Given the description of an element on the screen output the (x, y) to click on. 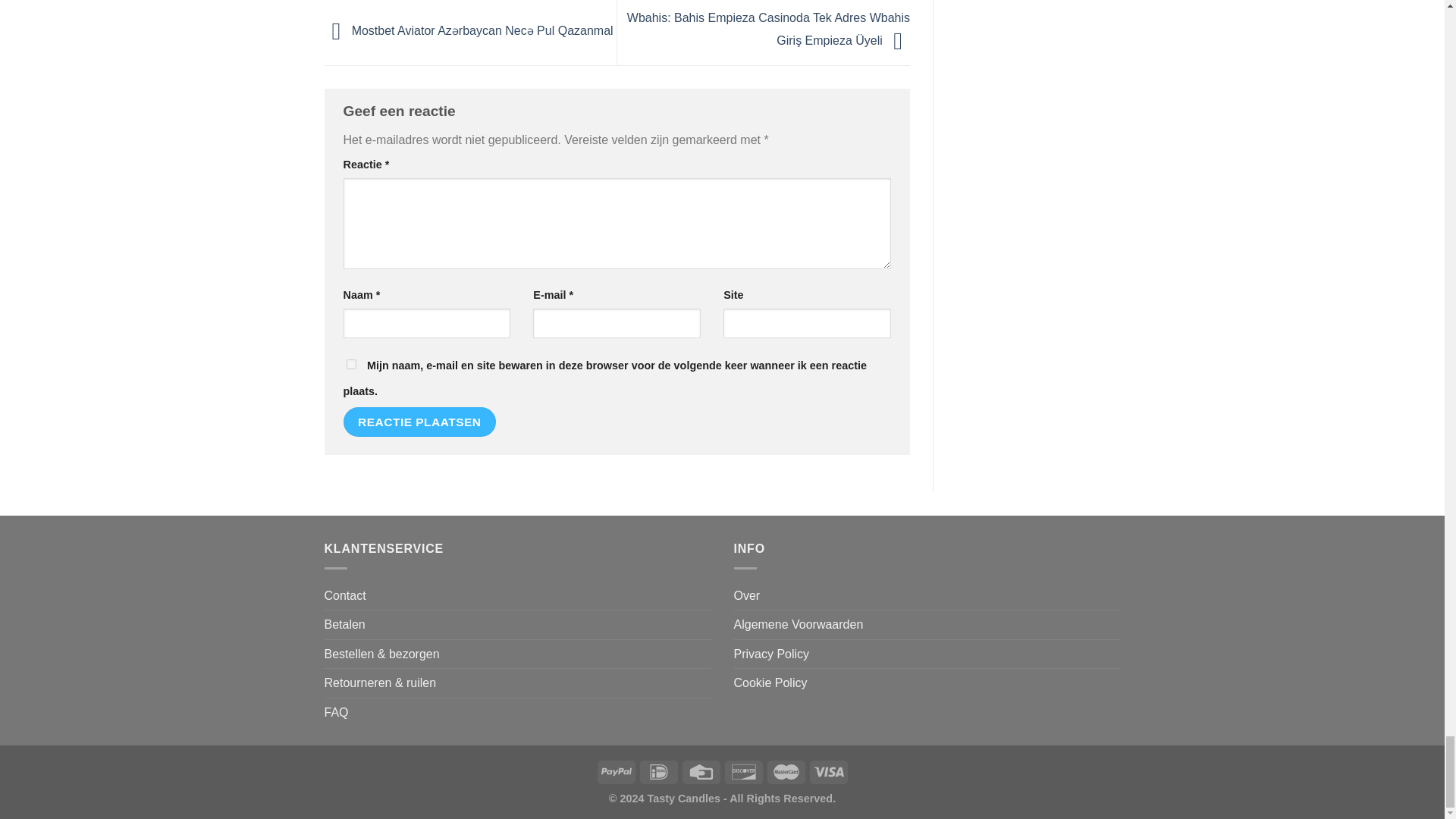
yes (350, 364)
Reactie plaatsen (419, 421)
